Given the description of an element on the screen output the (x, y) to click on. 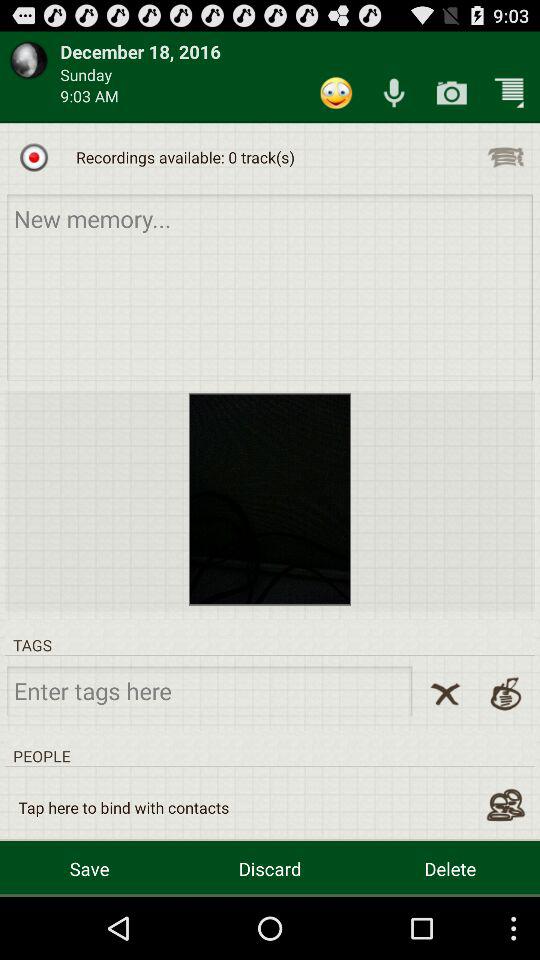
add emoji (336, 92)
